Given the description of an element on the screen output the (x, y) to click on. 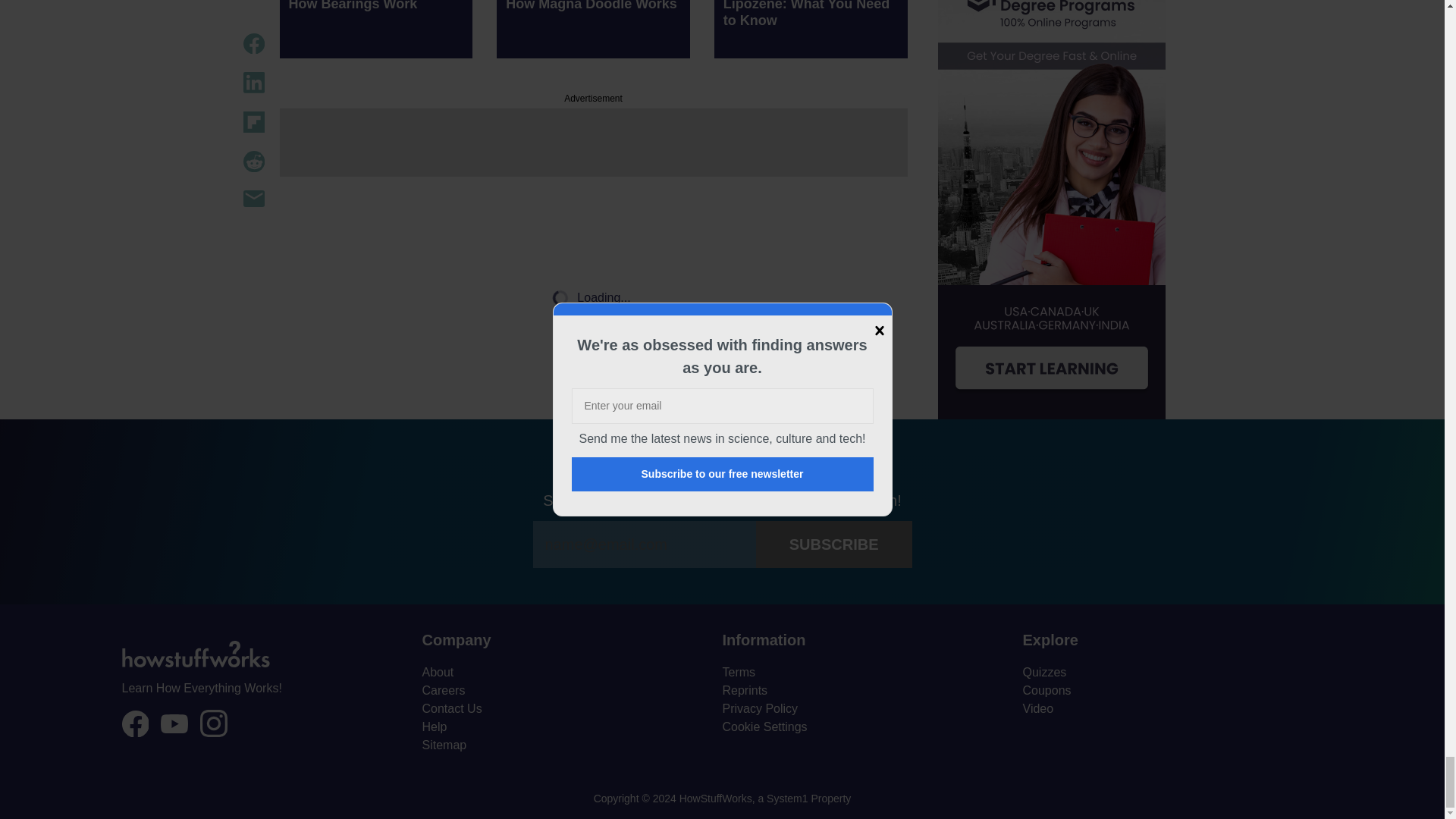
Visit HowStuffWorks on Facebook (134, 723)
Subscribe (833, 544)
Visit HowStuffWorks on YouTube (173, 723)
Visit HowStuffWorks on Instagram (213, 723)
